Given the description of an element on the screen output the (x, y) to click on. 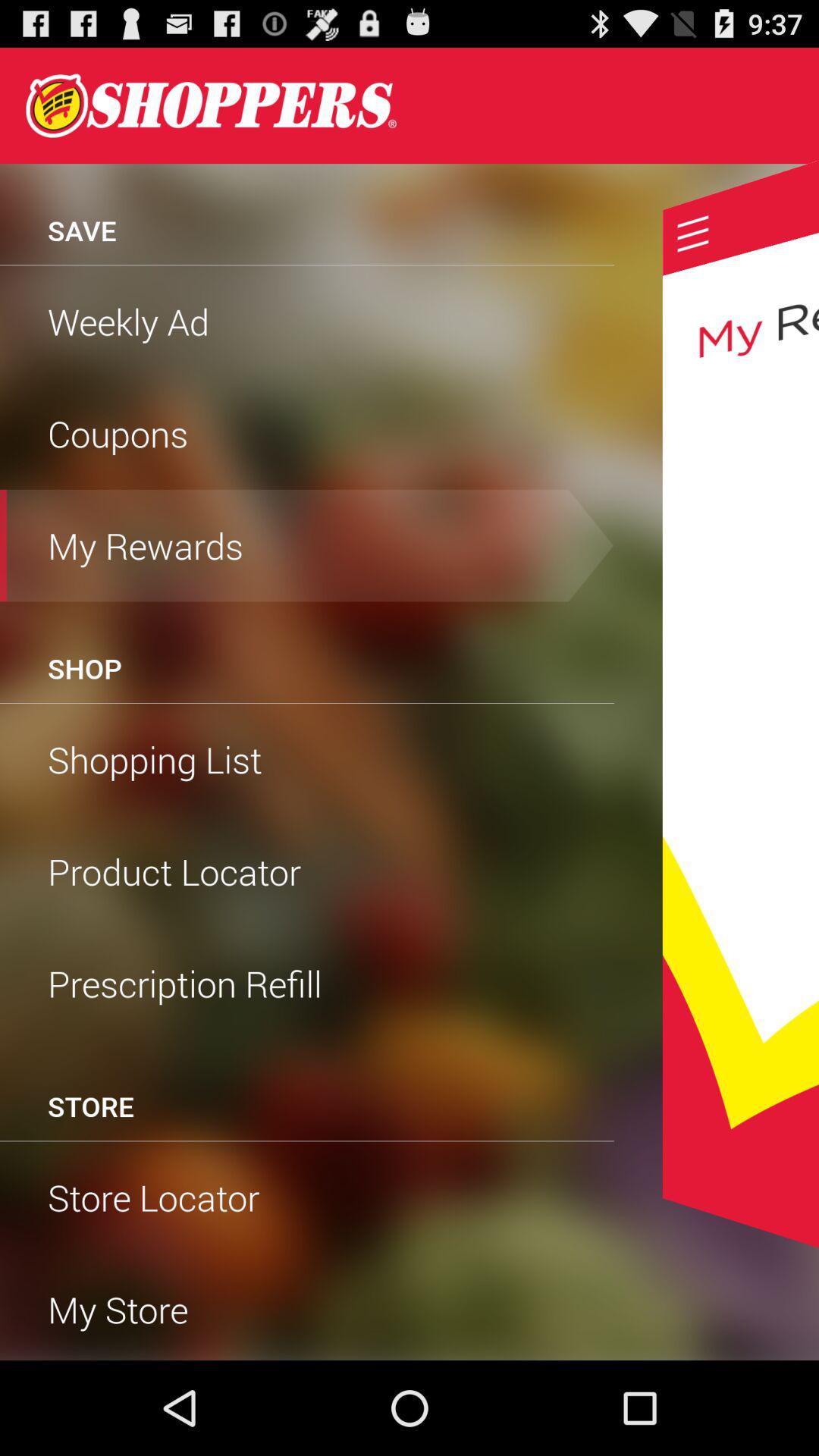
rewards display menu (740, 703)
